Given the description of an element on the screen output the (x, y) to click on. 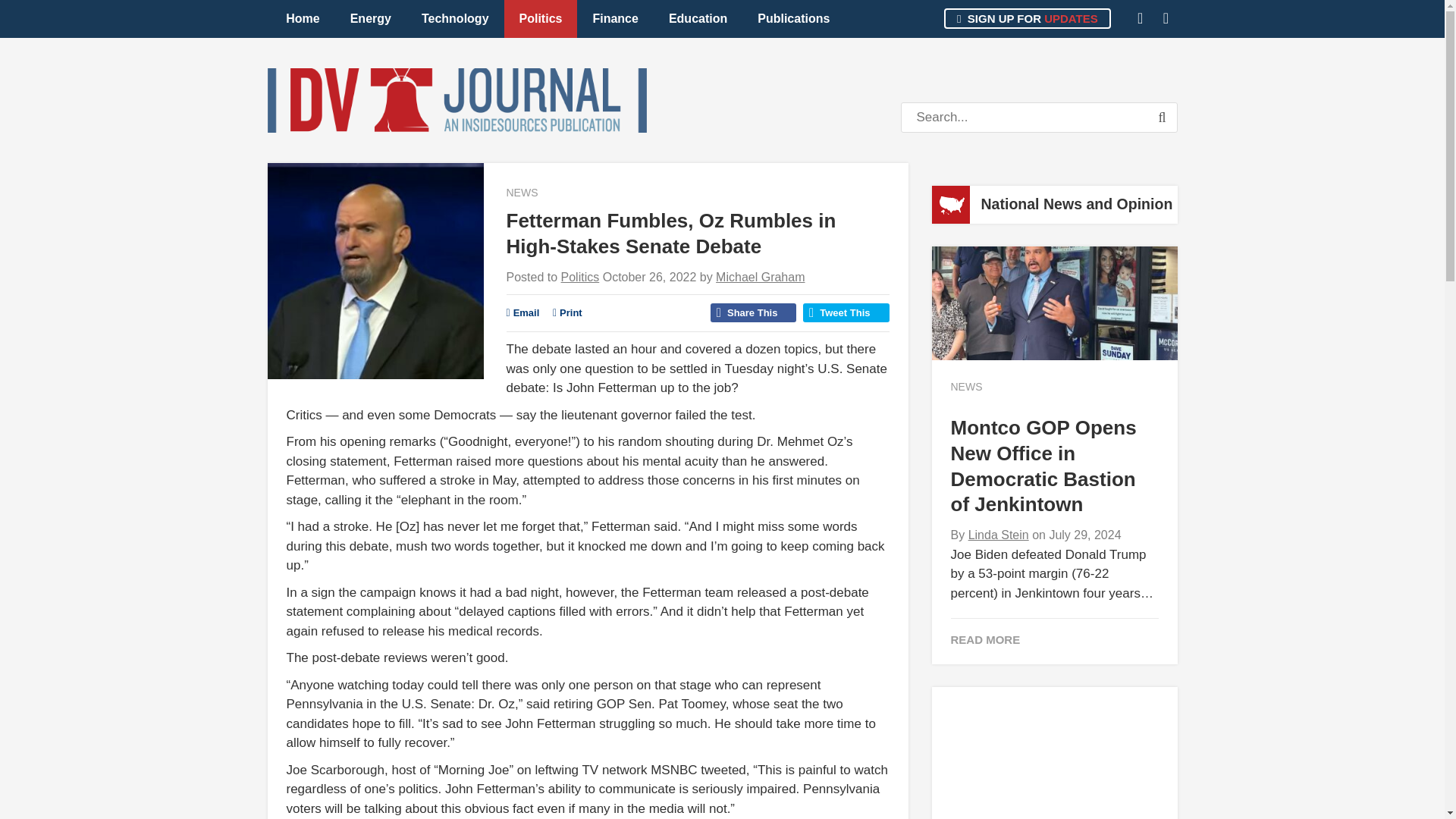
Michael Graham (760, 277)
Technology (454, 18)
Energy (370, 18)
Posts by Linda Stein (998, 534)
Email (523, 312)
Politics (540, 18)
Politics (579, 277)
Publications (793, 18)
Print (567, 312)
DV Journal (456, 99)
Home (302, 18)
Share This (753, 312)
Tweet This (845, 312)
Finance (614, 18)
Posts by Michael Graham (760, 277)
